Given the description of an element on the screen output the (x, y) to click on. 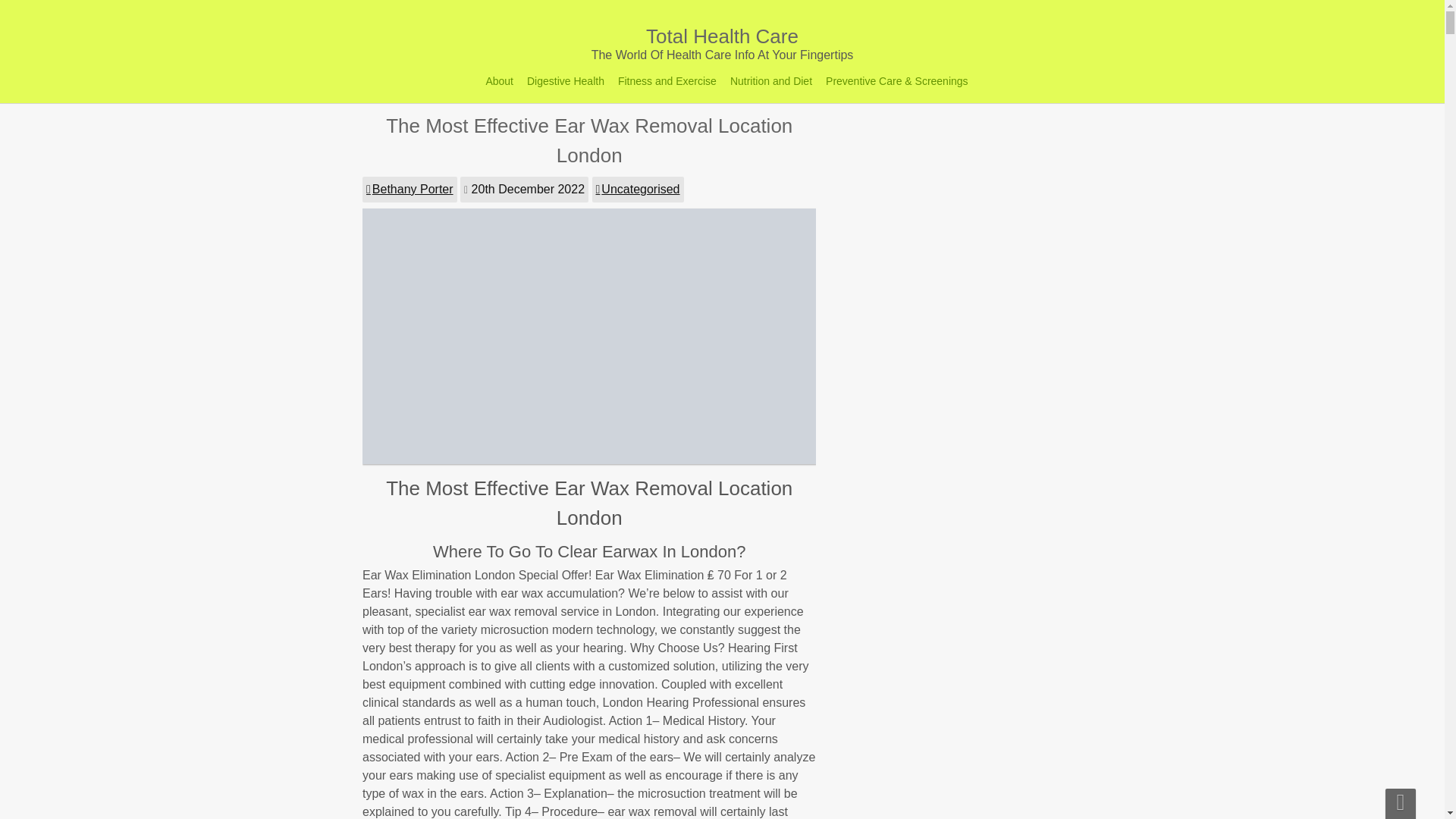
Bethany Porter (493, 658)
Fitness and Exercise (667, 80)
Nutrition and Diet (770, 80)
Posts by Bethany Porter (409, 189)
About (498, 80)
Uncategorised (636, 611)
The Most Effective Ear Wax Removal Location London (588, 140)
The Most Effective Ear Wax Removal Location London (675, 713)
Digestive Health (565, 80)
Total Health Care (722, 43)
Total Health Care (722, 43)
The Most Effective Ear Wax Removal Location London (589, 459)
